Given the description of an element on the screen output the (x, y) to click on. 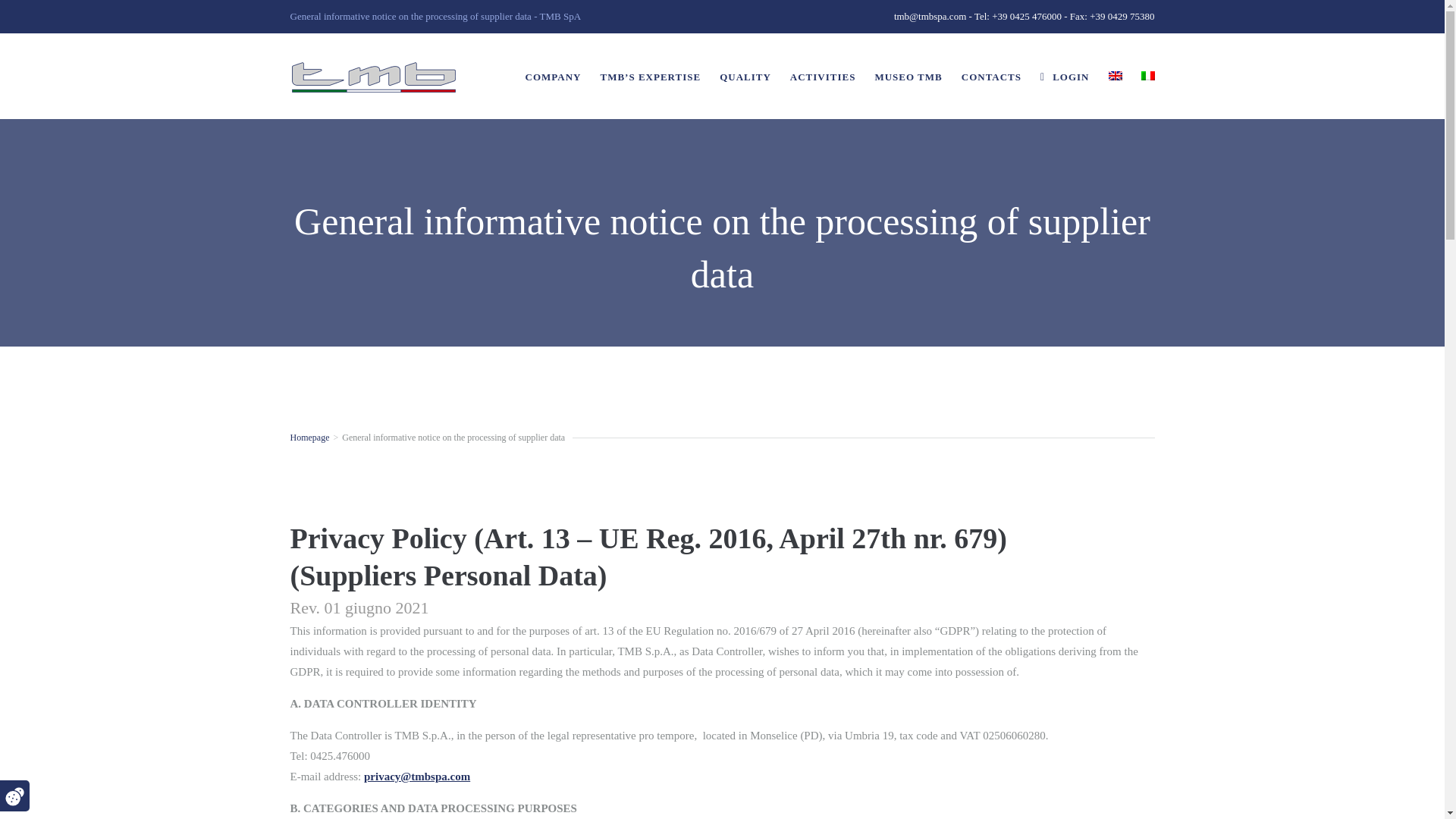
Italiano (1147, 75)
English (1115, 75)
